Given the description of an element on the screen output the (x, y) to click on. 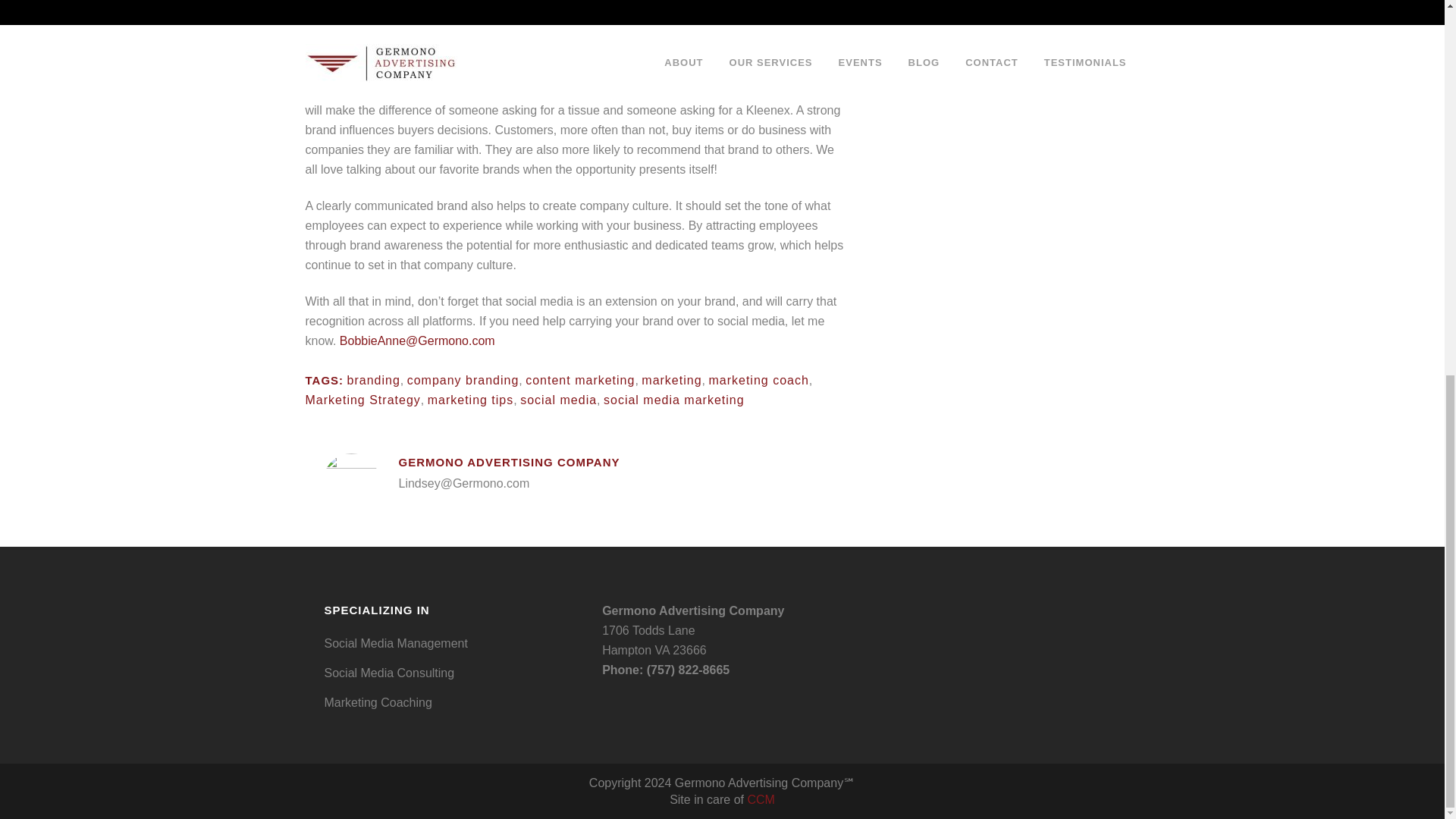
marketing tips (470, 399)
Marketing Strategy (362, 399)
CCM (760, 799)
content marketing (579, 379)
Social Media Consulting (451, 673)
Social Media Management (451, 643)
social media (557, 399)
Marketing Coaching (451, 702)
social media marketing (674, 399)
company branding (463, 379)
